Given the description of an element on the screen output the (x, y) to click on. 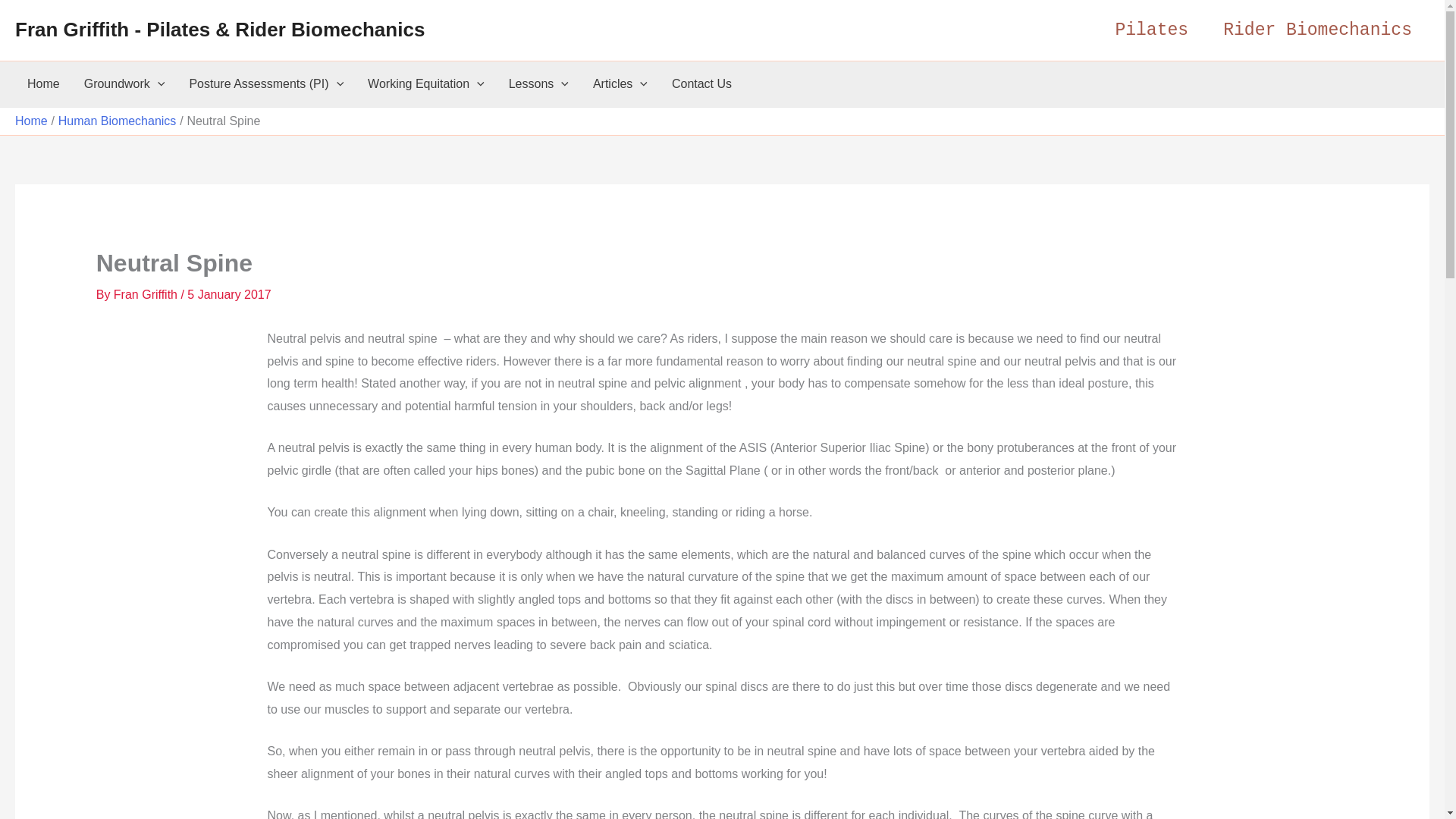
Working Equitation (425, 84)
Pilates (1151, 30)
Rider Biomechanics (1317, 30)
Home (42, 84)
Lessons (538, 84)
View all posts by Fran Griffith (146, 294)
Groundwork (124, 84)
Articles (619, 84)
Contact Us (701, 84)
